Given the description of an element on the screen output the (x, y) to click on. 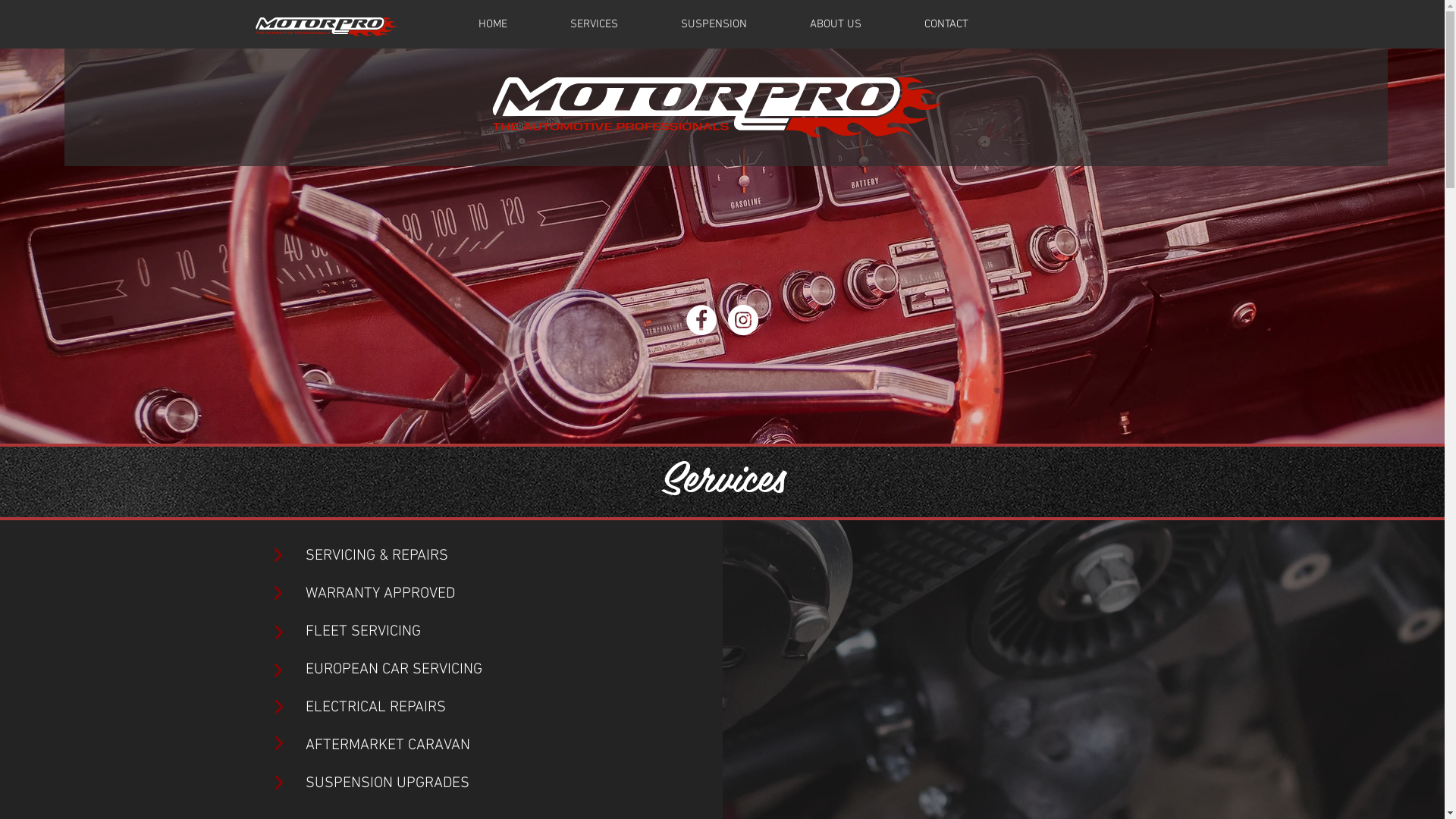
CONTACT Element type: text (946, 24)
SUSPENSION Element type: text (713, 24)
HOME Element type: text (491, 24)
ABOUT US Element type: text (835, 24)
SERVICES Element type: text (593, 24)
